Given the description of an element on the screen output the (x, y) to click on. 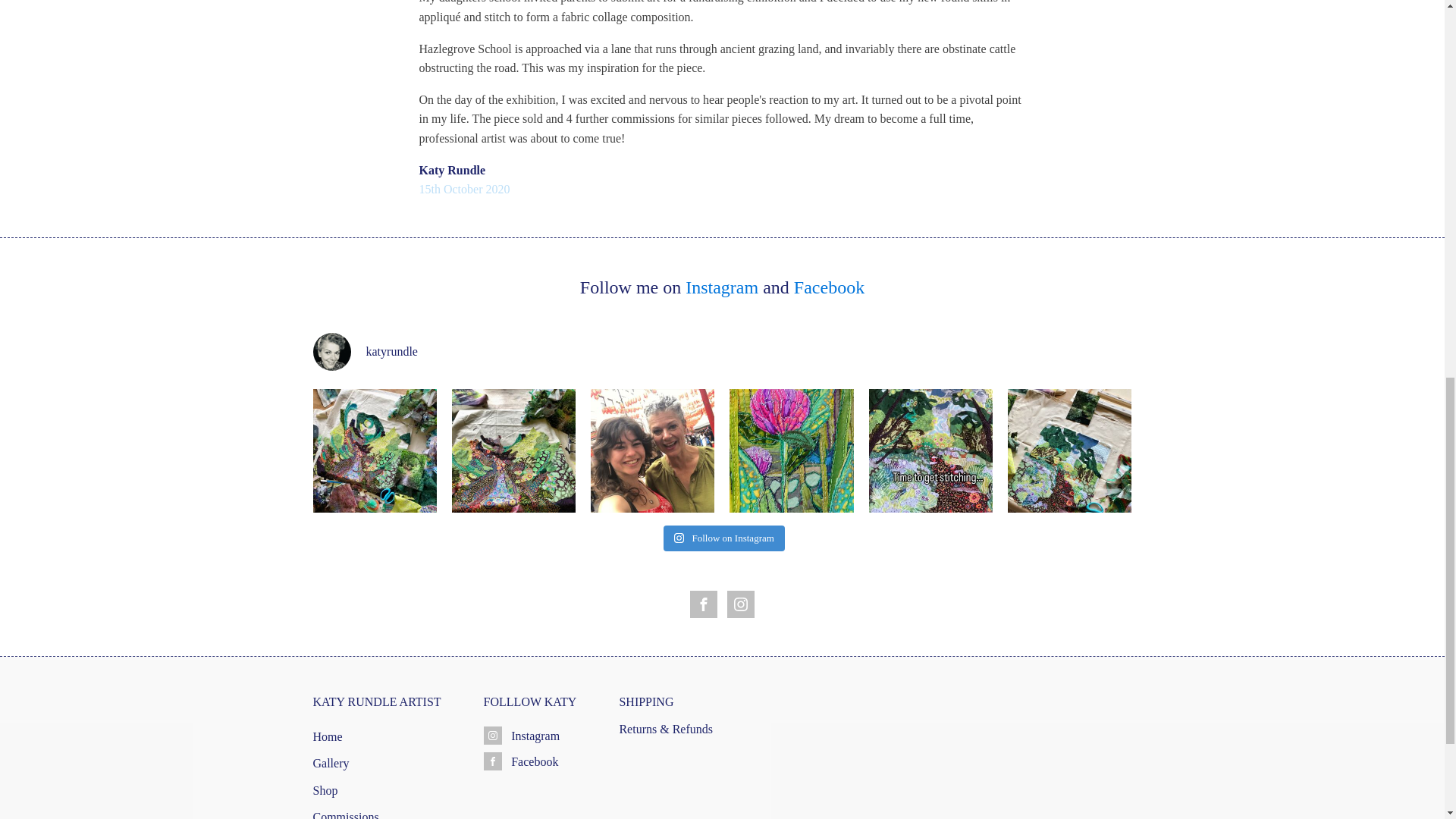
Instagram (535, 736)
Shop (362, 786)
Instagram (721, 287)
Follow on Instagram (723, 538)
katyrundle (722, 351)
Home (362, 732)
Facebook (828, 287)
Commissions (362, 809)
Gallery (362, 759)
Facebook (534, 762)
